Given the description of an element on the screen output the (x, y) to click on. 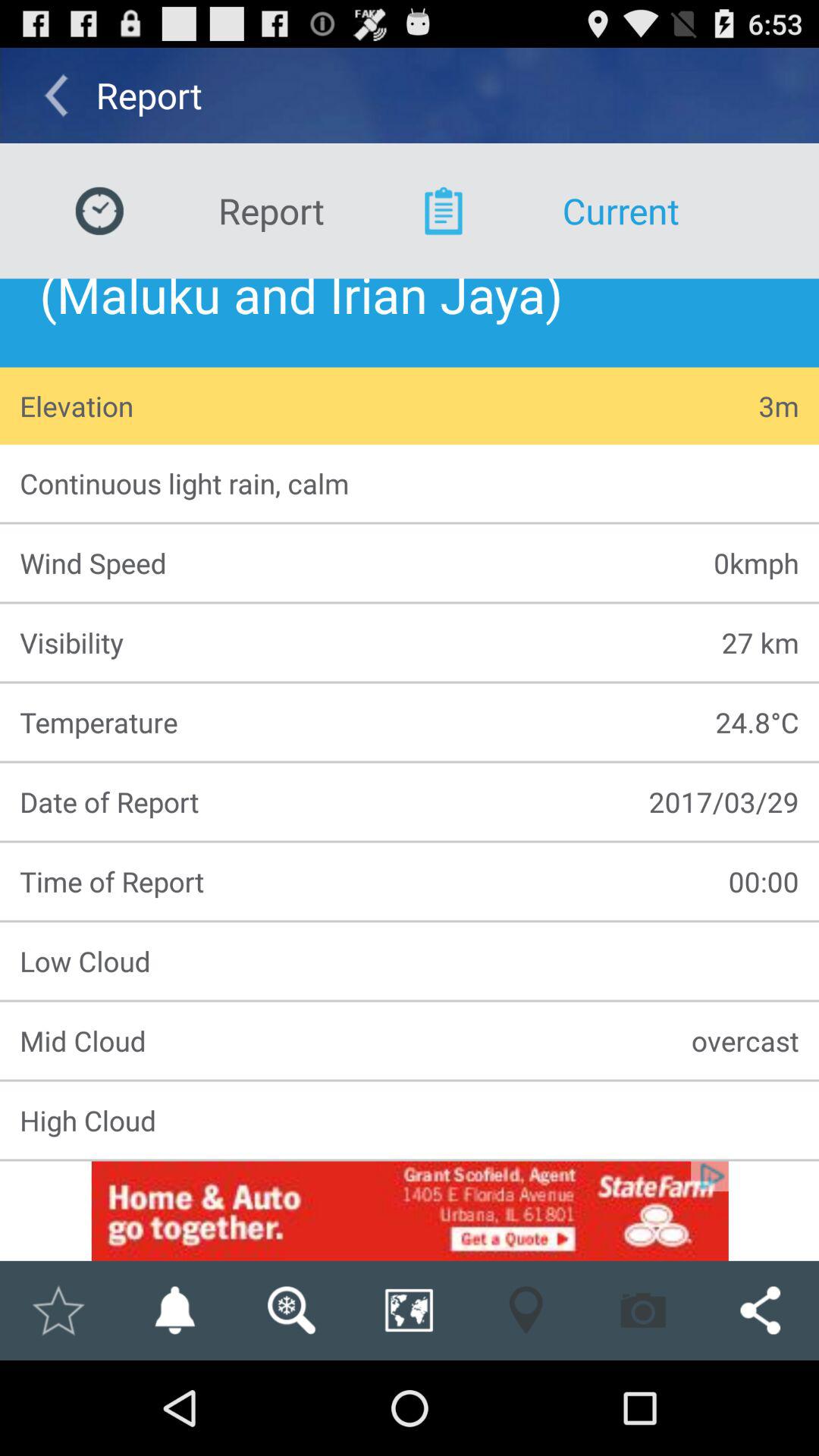
click to share (760, 1310)
